Given the description of an element on the screen output the (x, y) to click on. 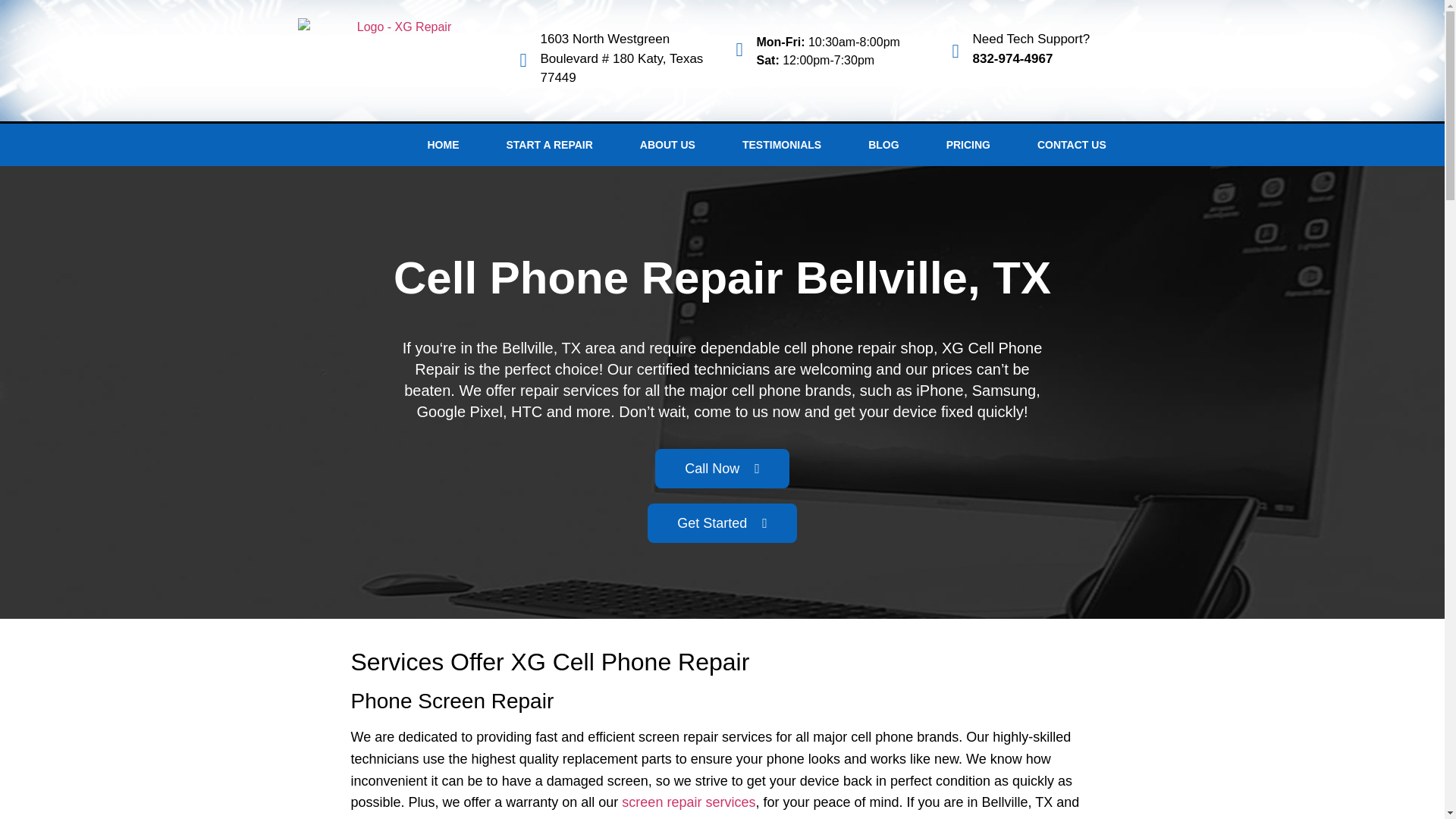
TESTIMONIALS (781, 144)
PRICING (968, 144)
ABOUT US (667, 144)
CONTACT US (1071, 144)
HOME (442, 144)
START A REPAIR (1030, 48)
BLOG (548, 144)
